Given the description of an element on the screen output the (x, y) to click on. 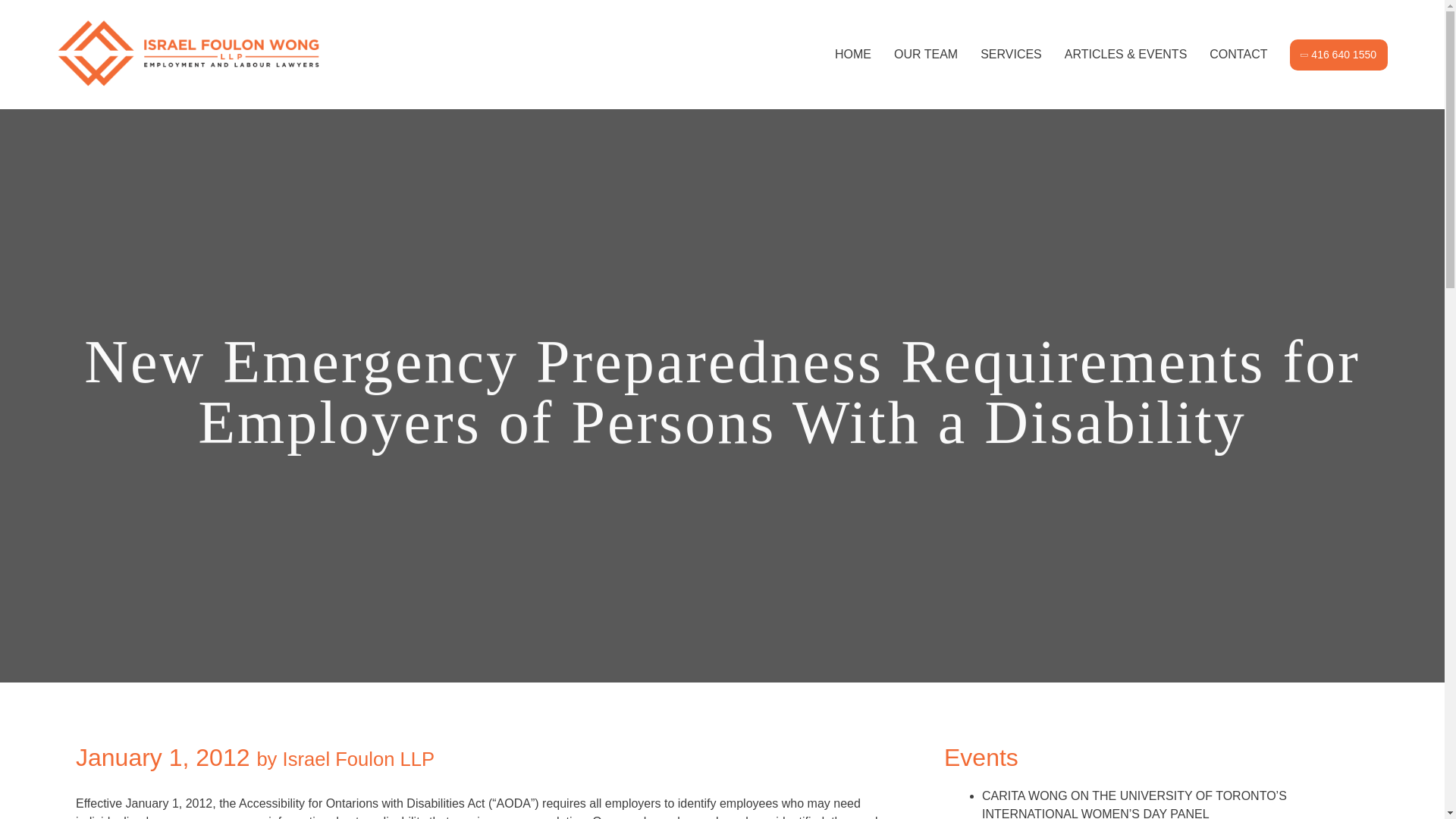
 416 640 1550 (1338, 54)
OUR TEAM (925, 53)
HOME (852, 53)
SERVICES (1010, 53)
CONTACT (1237, 53)
